Given the description of an element on the screen output the (x, y) to click on. 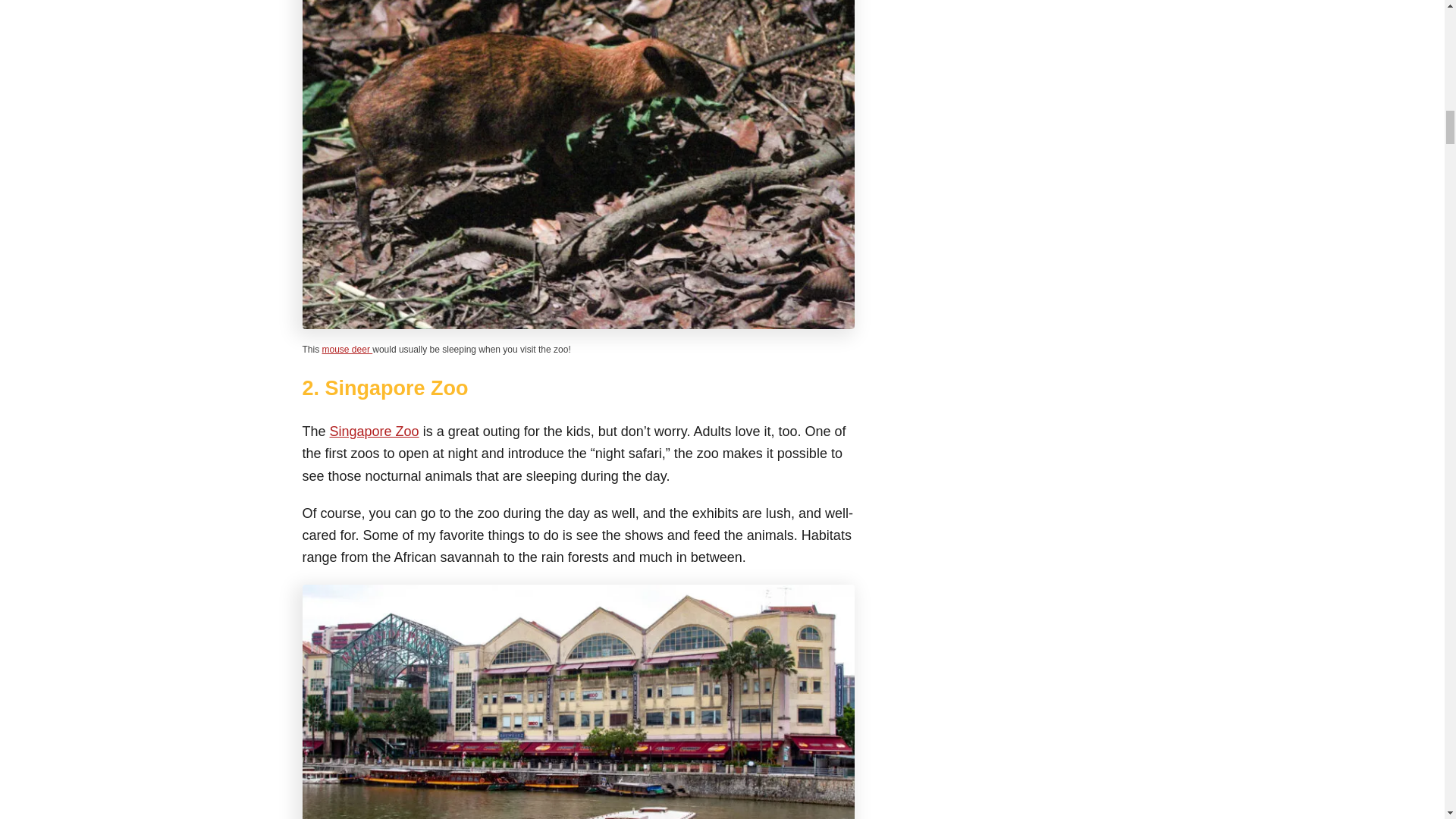
mouse deer (346, 348)
Singapore Zoo (374, 431)
